Given the description of an element on the screen output the (x, y) to click on. 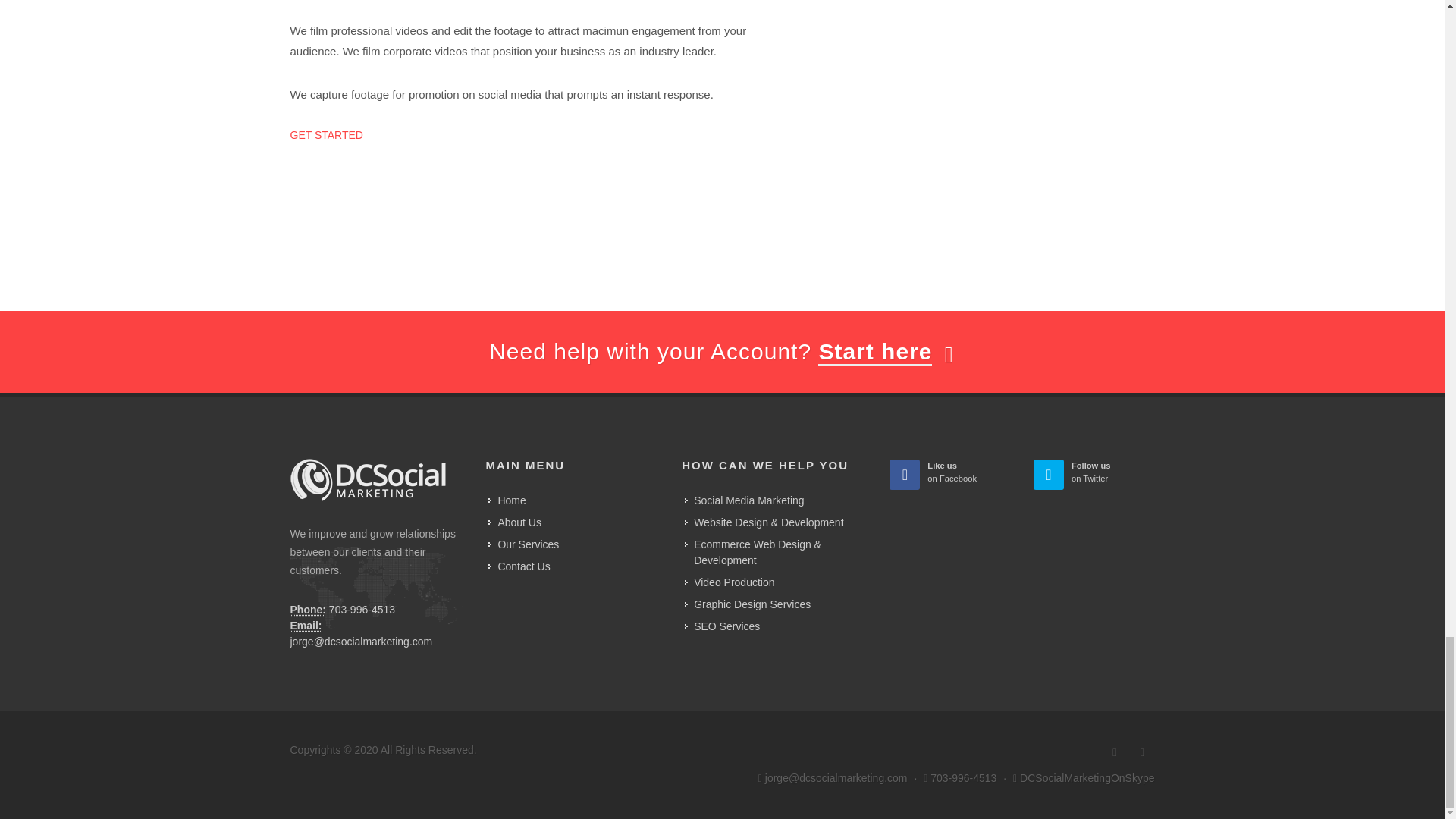
Home (507, 500)
Email Address (949, 472)
SEO Services (305, 625)
About Us (722, 626)
Video Production (515, 522)
Our Services (1093, 472)
Graphic Design Services (730, 582)
Social Media Marketing (523, 544)
